Given the description of an element on the screen output the (x, y) to click on. 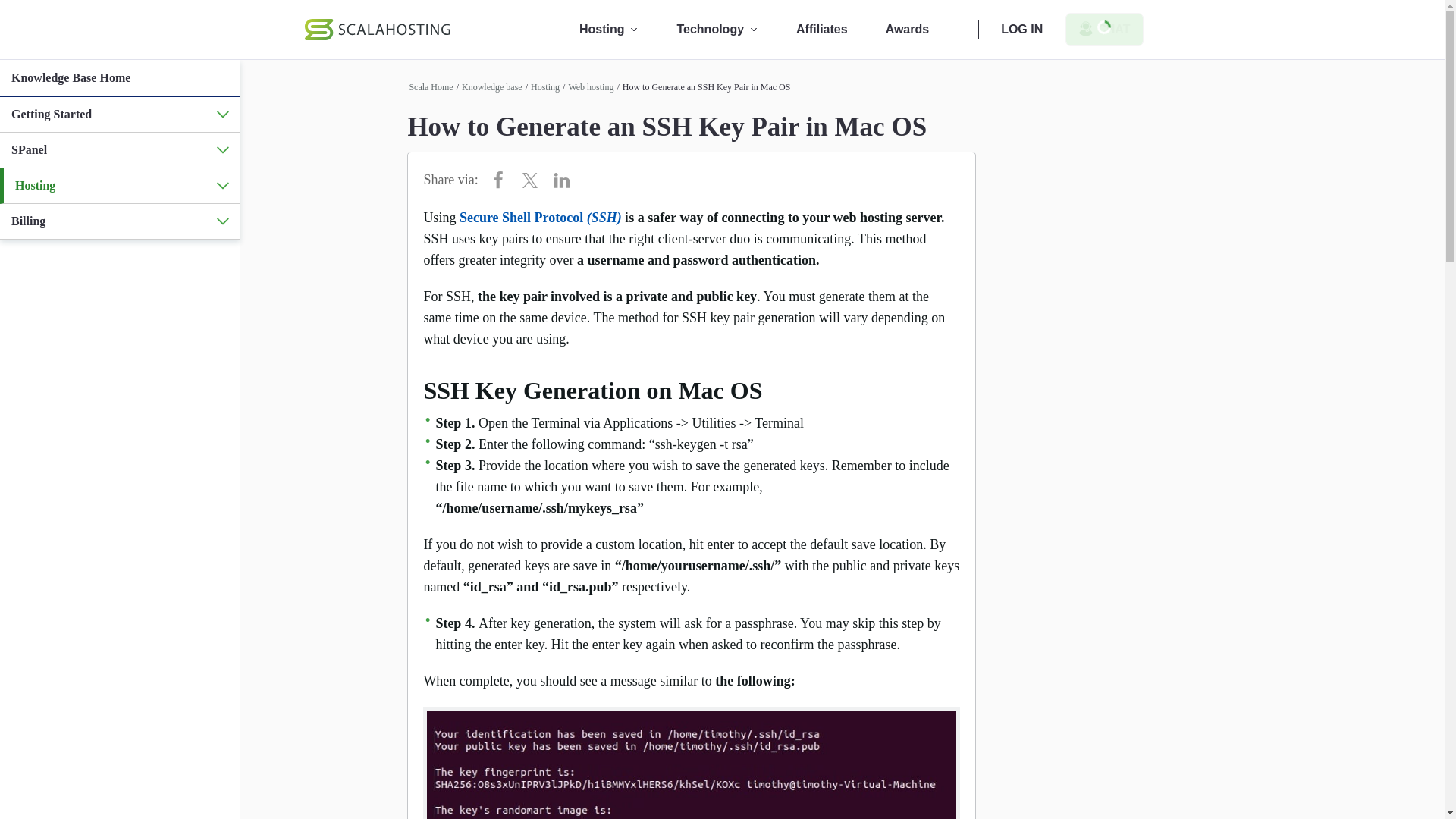
Share on Facebook (502, 179)
Knowledge Base Home (71, 77)
Awards (907, 29)
Hosting (545, 86)
CHAT (1103, 29)
LOG IN (1021, 29)
Scala Home (430, 86)
Contact Sales (1103, 29)
Share on LinkedIn (565, 179)
Affiliates (821, 29)
